Given the description of an element on the screen output the (x, y) to click on. 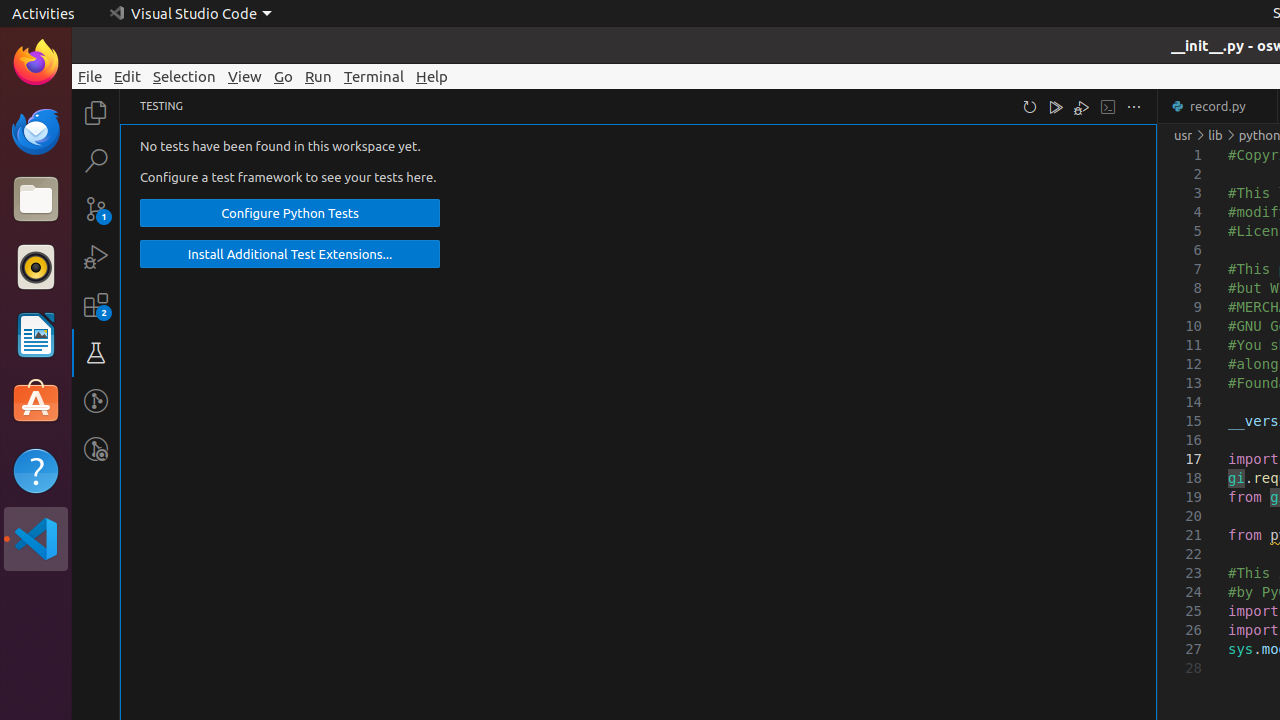
Source Control (Ctrl+Shift+G G) - 1 pending changes Source Control (Ctrl+Shift+G G) - 1 pending changes Element type: page-tab (96, 208)
Testing Element type: page-tab (96, 353)
Run and Debug (Ctrl+Shift+D) Element type: page-tab (96, 257)
